Given the description of an element on the screen output the (x, y) to click on. 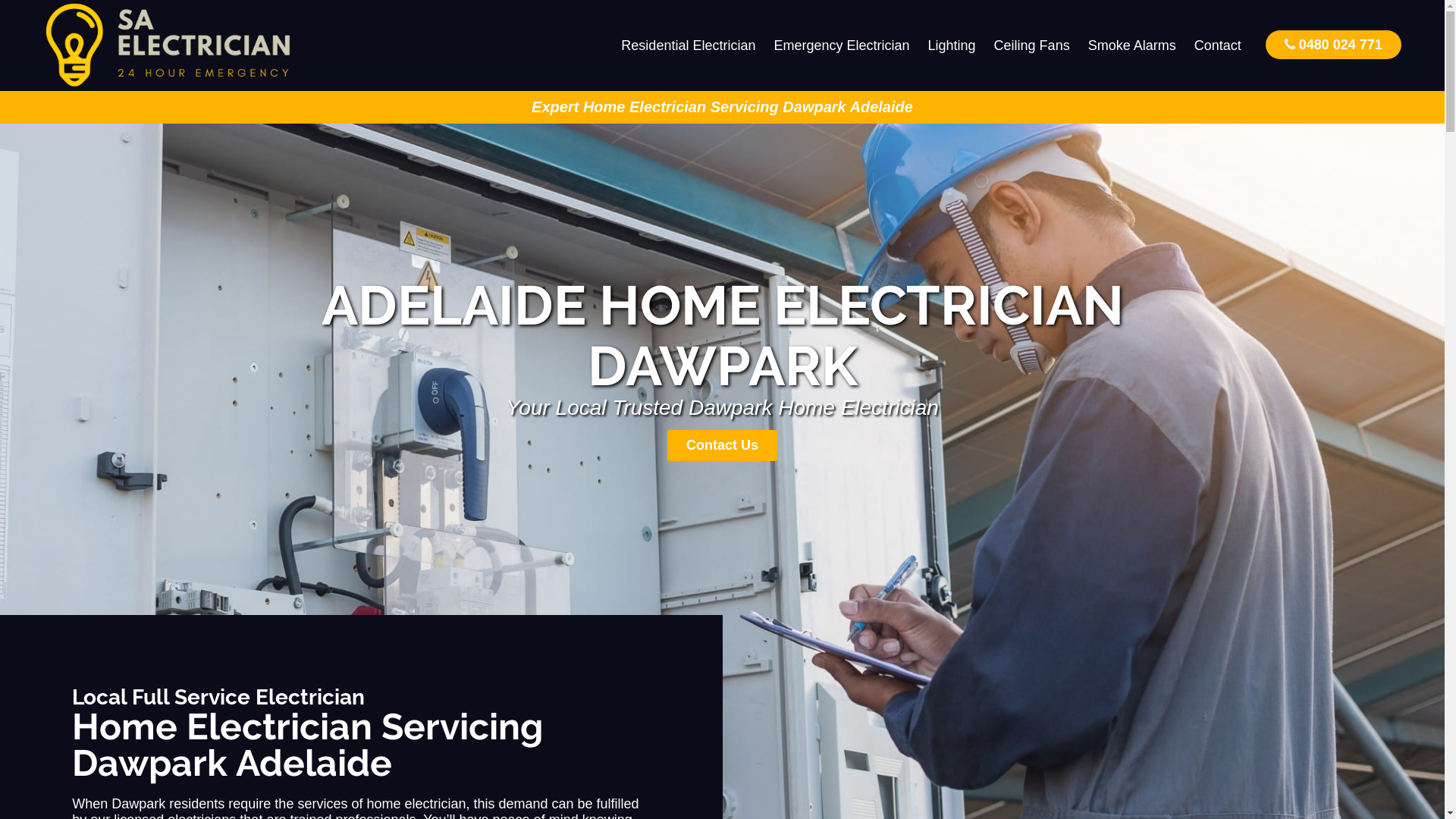
Emergency Electrician Element type: text (841, 45)
Lighting Element type: text (952, 45)
Contact Us Element type: text (722, 445)
Smoke Alarms Element type: text (1132, 45)
Contact Element type: text (1217, 45)
Residential Electrician Element type: text (687, 45)
0480 024 771 Element type: text (1333, 44)
Ceiling Fans Element type: text (1032, 45)
